Given the description of an element on the screen output the (x, y) to click on. 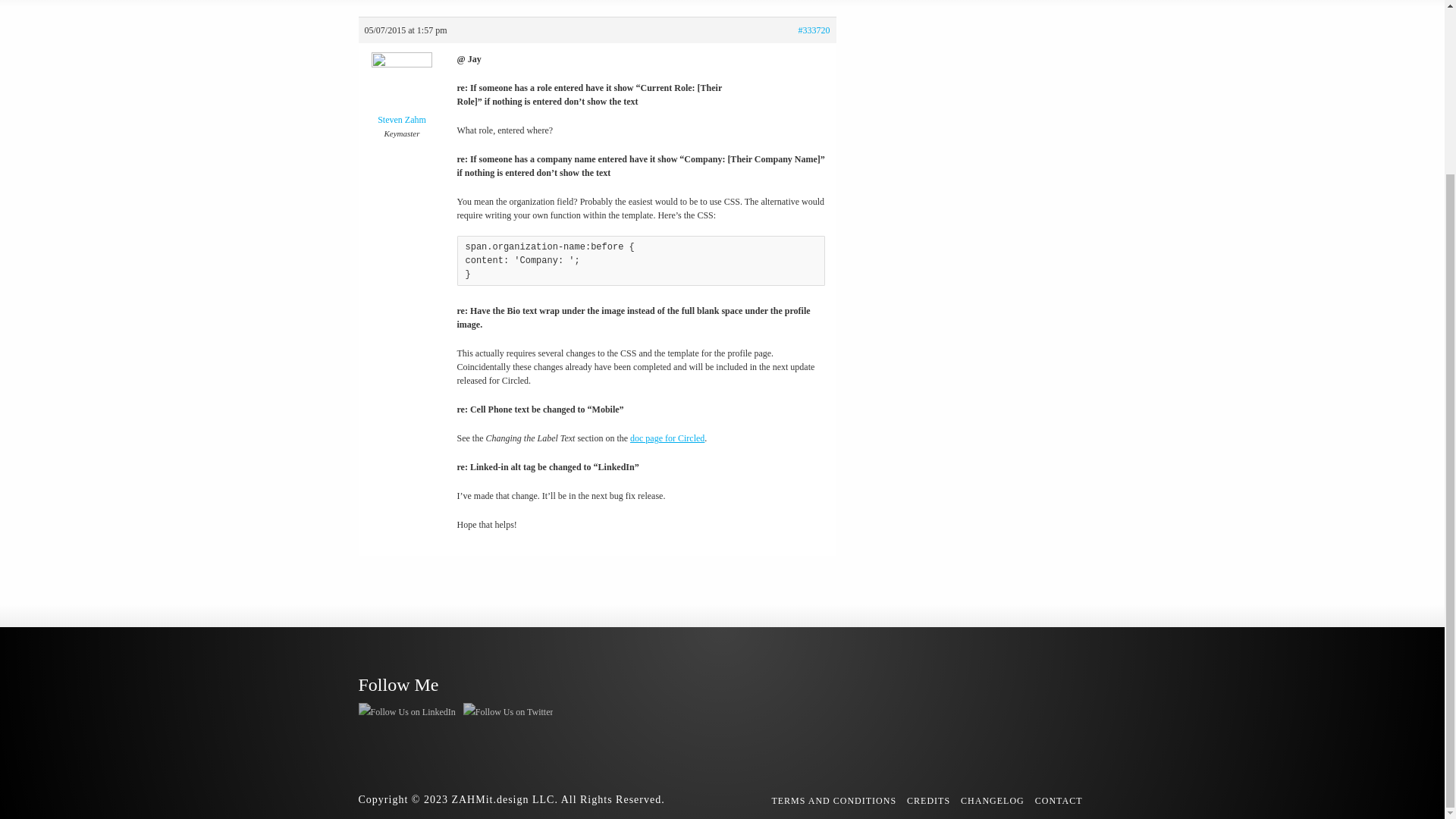
Follow Us on Twitter (508, 711)
Steven Zahm (401, 92)
doc page for Circled (667, 438)
Follow Us on LinkedIn (406, 711)
View Steven Zahm's profile (401, 92)
